Given the description of an element on the screen output the (x, y) to click on. 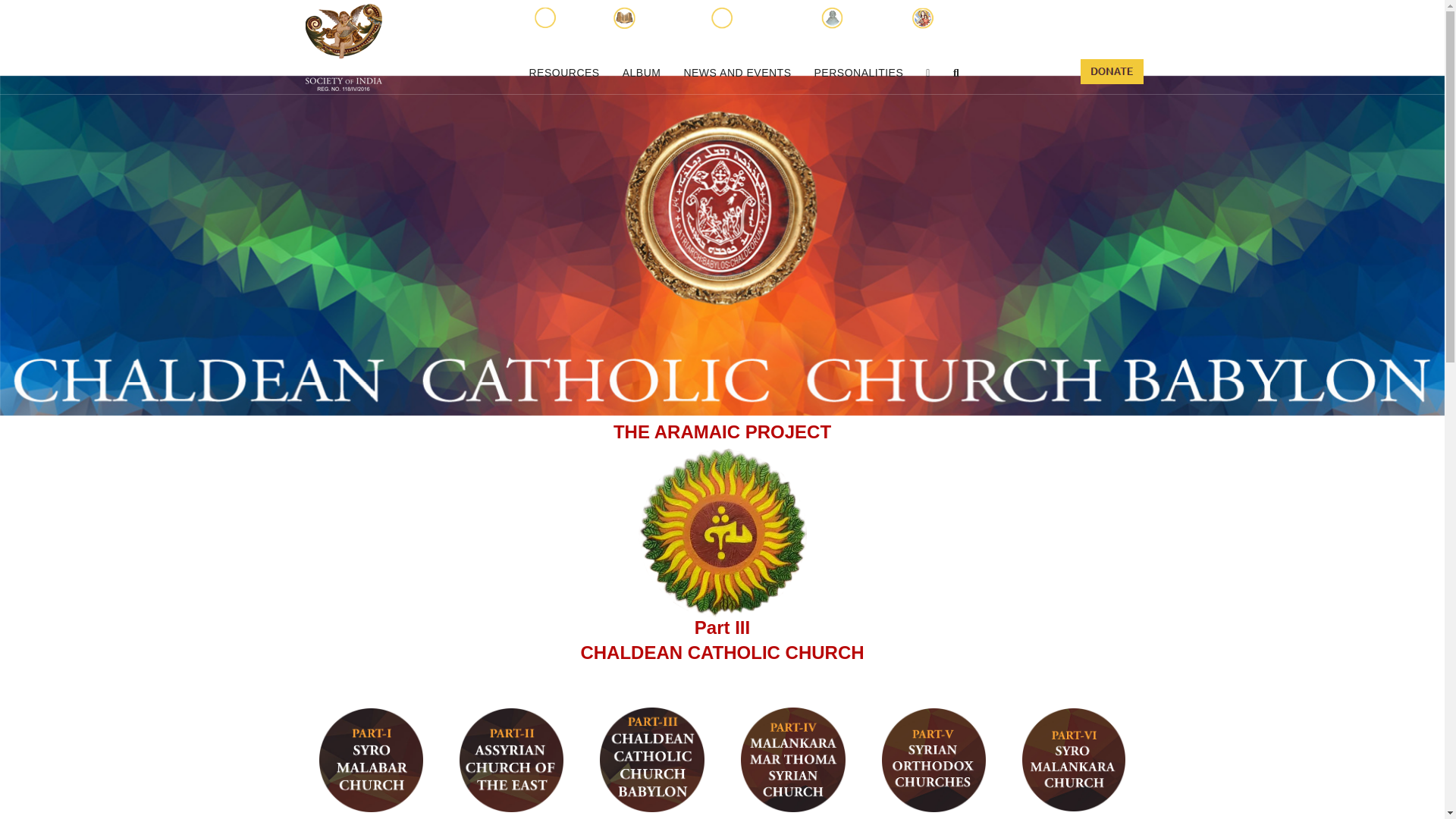
PERSONALITIES (859, 72)
Chaldean Catholic Church (652, 759)
ALBUM (641, 72)
Syro Malabar Church (371, 760)
Malankara Mar Thoma Syrian Church (793, 759)
RESOURCES (563, 72)
NEWS AND EVENTS (736, 72)
Assryian Church  (511, 760)
Syrian orthodox Church (933, 760)
Syro Malankara Church (1072, 759)
